Given the description of an element on the screen output the (x, y) to click on. 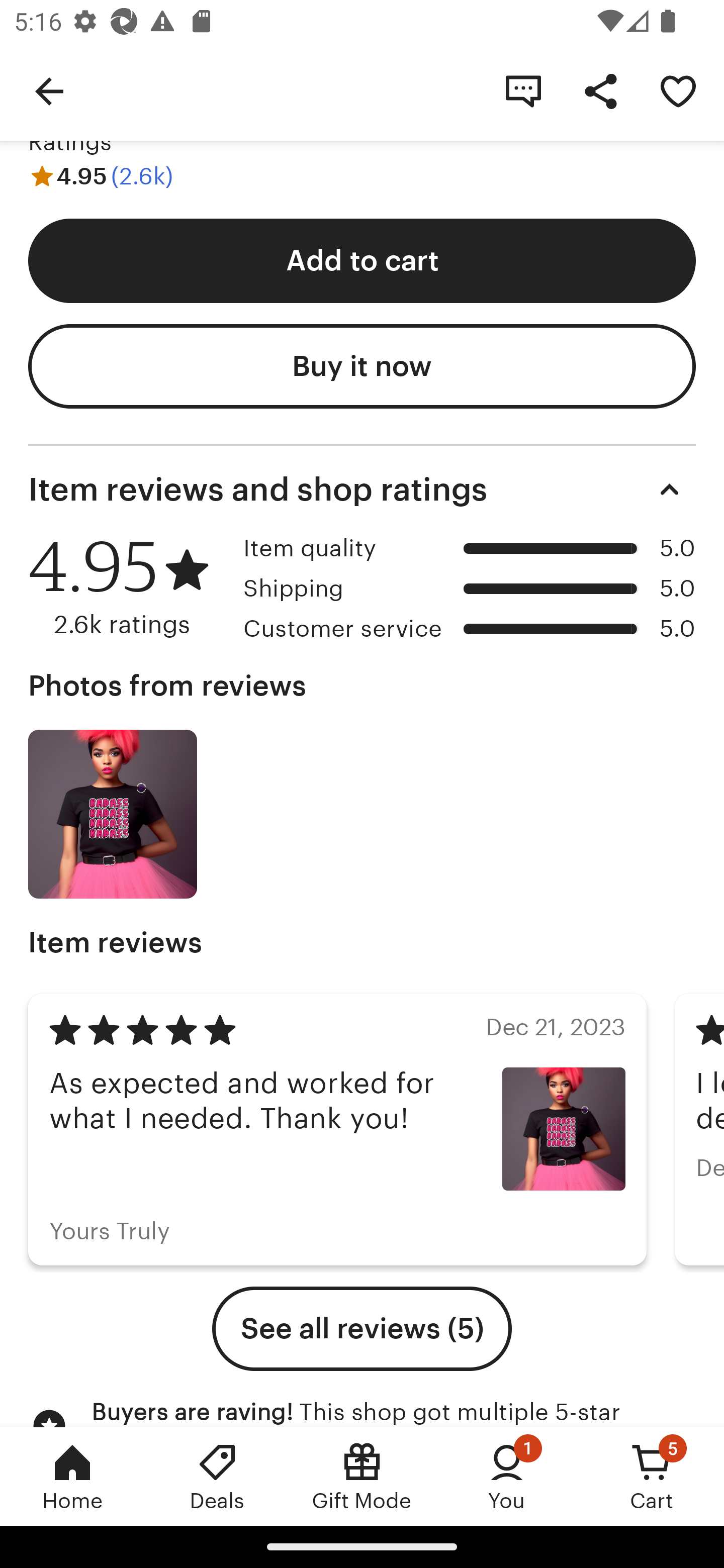
Navigate up (49, 90)
Contact shop (523, 90)
Share (600, 90)
Ratings (70, 141)
4.95 (2.6k) (100, 176)
Add to cart (361, 259)
Buy it now (361, 366)
Item reviews and shop ratings (362, 488)
4.95 2.6k ratings (128, 586)
Photo from review (112, 813)
See all reviews (5) (361, 1328)
Deals (216, 1475)
Gift Mode (361, 1475)
You, 1 new notification You (506, 1475)
Cart, 5 new notifications Cart (651, 1475)
